Given the description of an element on the screen output the (x, y) to click on. 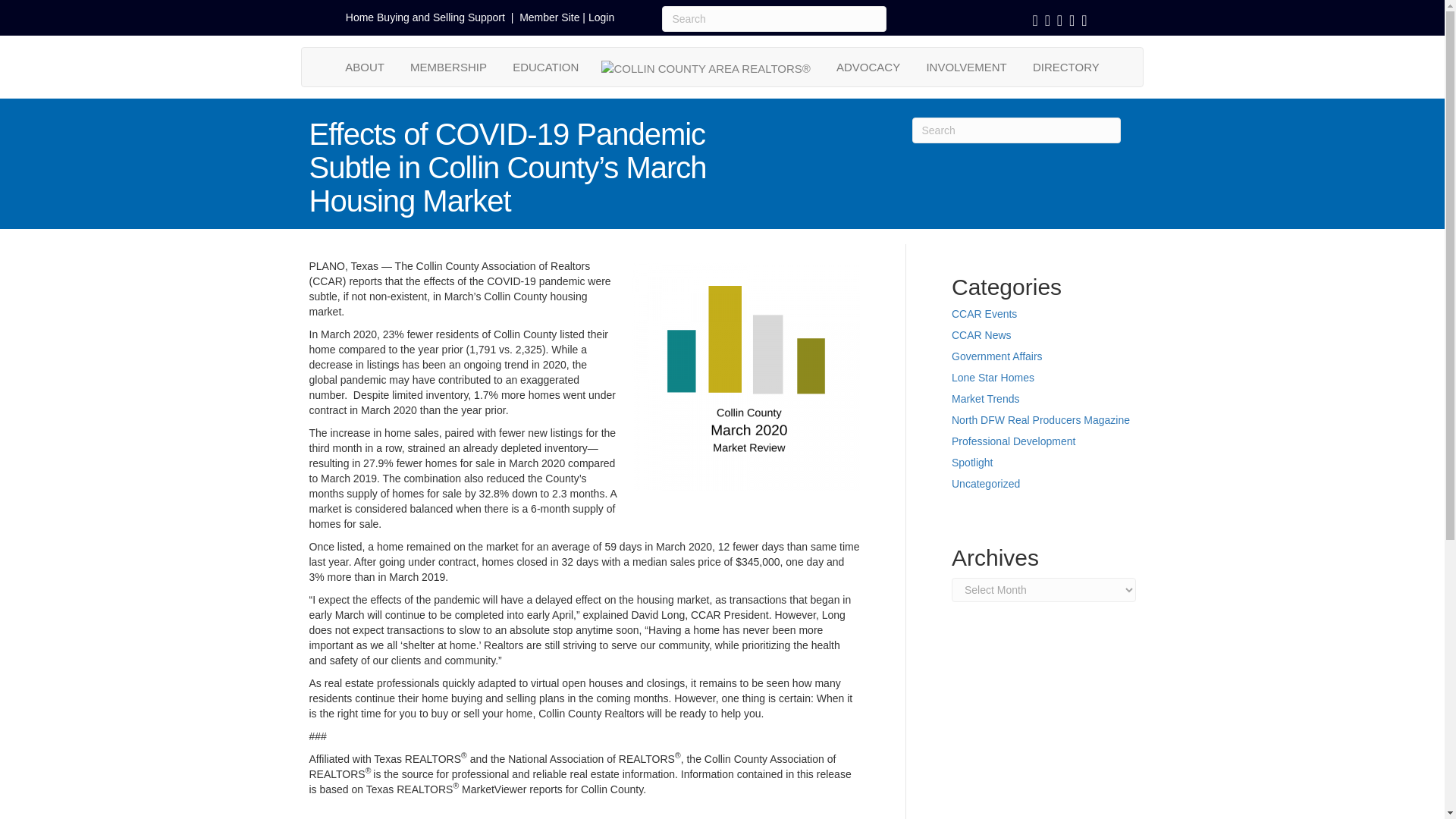
Member Site (549, 16)
Type and press Enter to search. (774, 18)
Type and press Enter to search. (1015, 130)
Home Buying and Selling Support (425, 16)
